Given the description of an element on the screen output the (x, y) to click on. 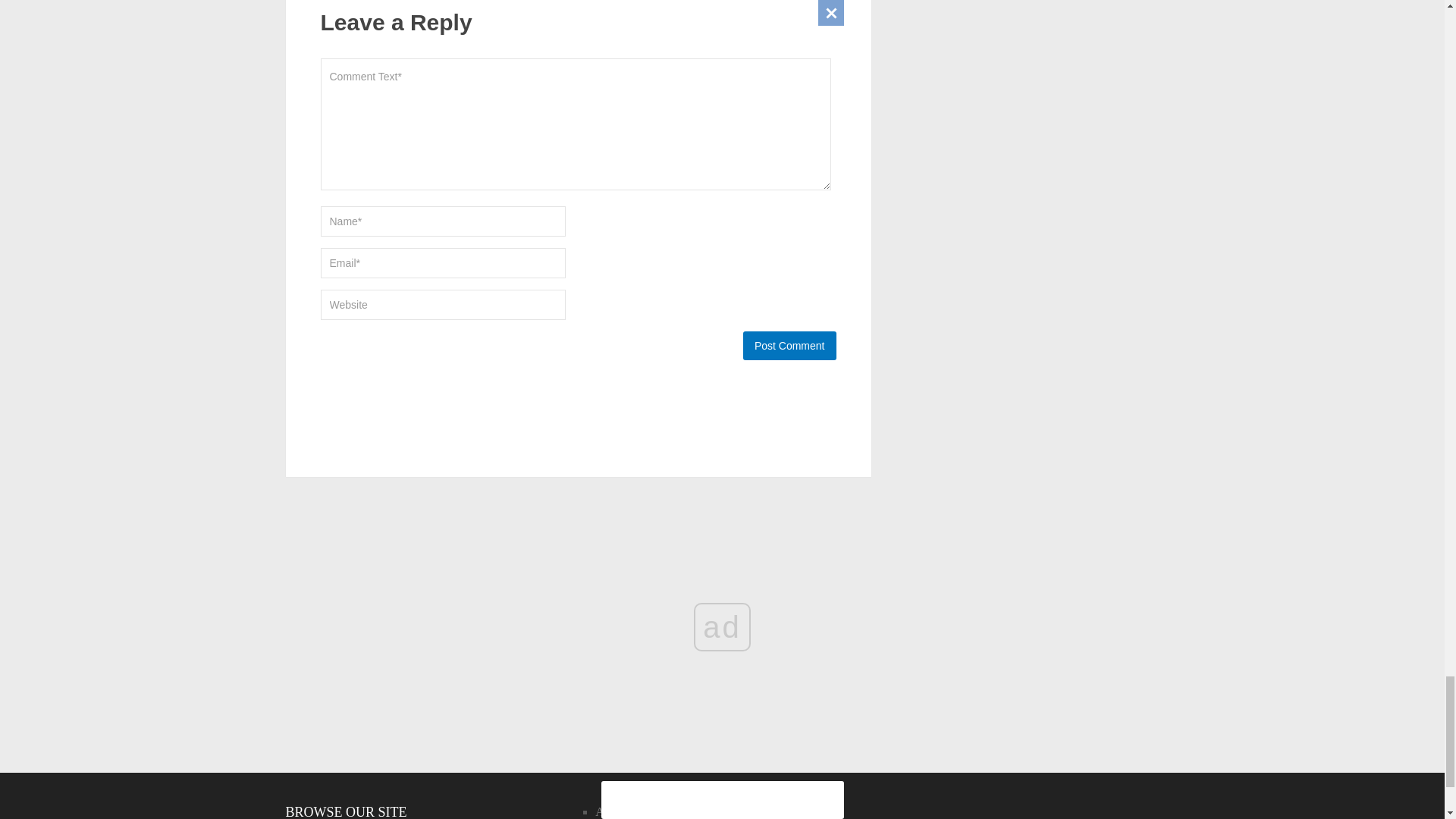
Post Comment (788, 345)
